Given the description of an element on the screen output the (x, y) to click on. 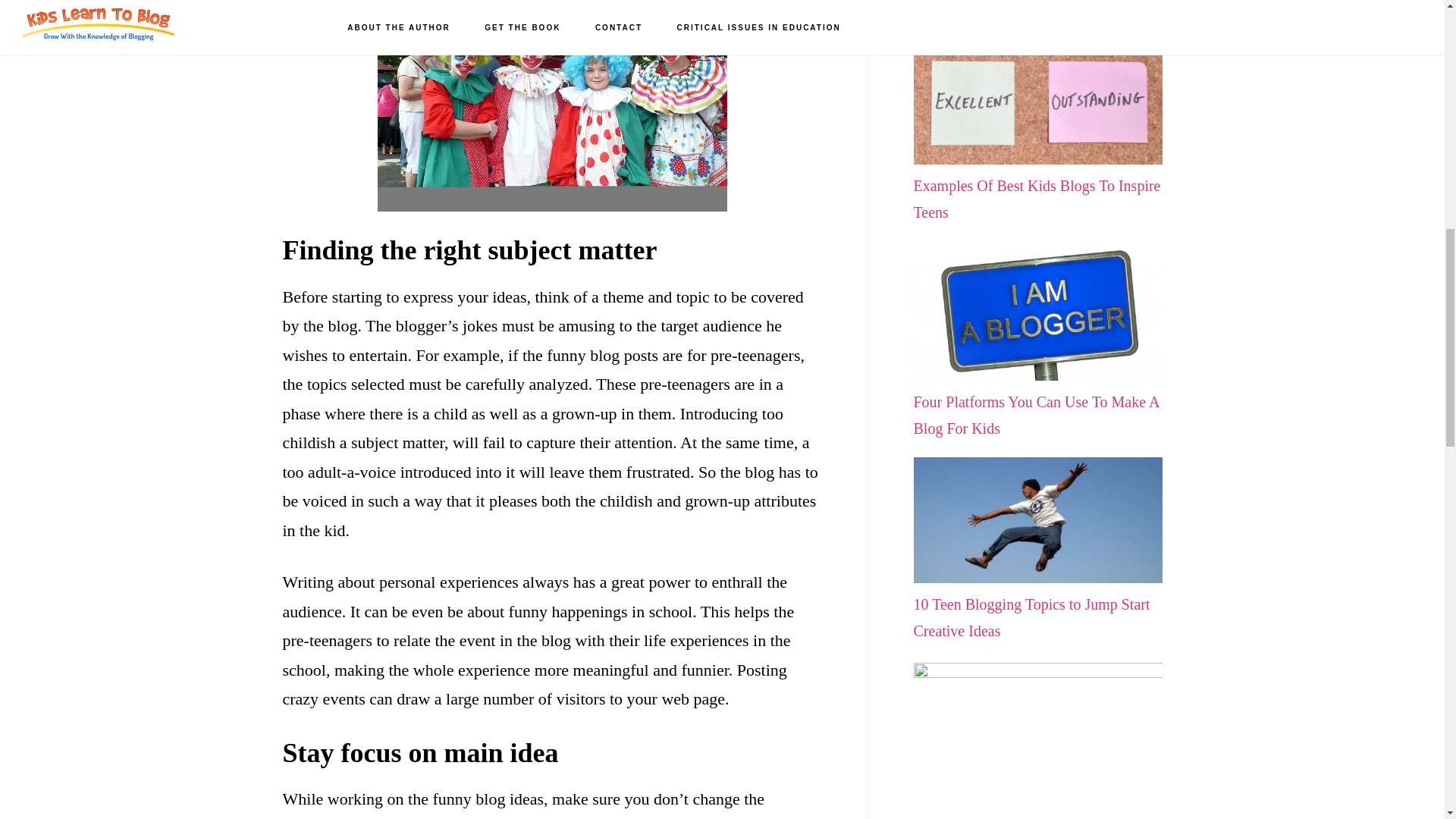
10 Teen Blogging Topics to Jump Start Creative Ideas (1036, 604)
Examples Of Best Kids Blogs To Inspire Teens (1036, 185)
Four Platforms You Can Use To Make A Blog For Kids (1036, 401)
Four Platforms You Can Use To Make A Blog For Kids (1036, 401)
10 Teen Blogging Topics to Jump Start Creative Ideas (1036, 604)
How to Start a Blog for Kids Under 13 (1036, 741)
Examples Of Best Kids Blogs To Inspire Teens (1036, 185)
funny idea blog (551, 106)
How to Start a Blog for Kids Under 13 (1036, 741)
